Given the description of an element on the screen output the (x, y) to click on. 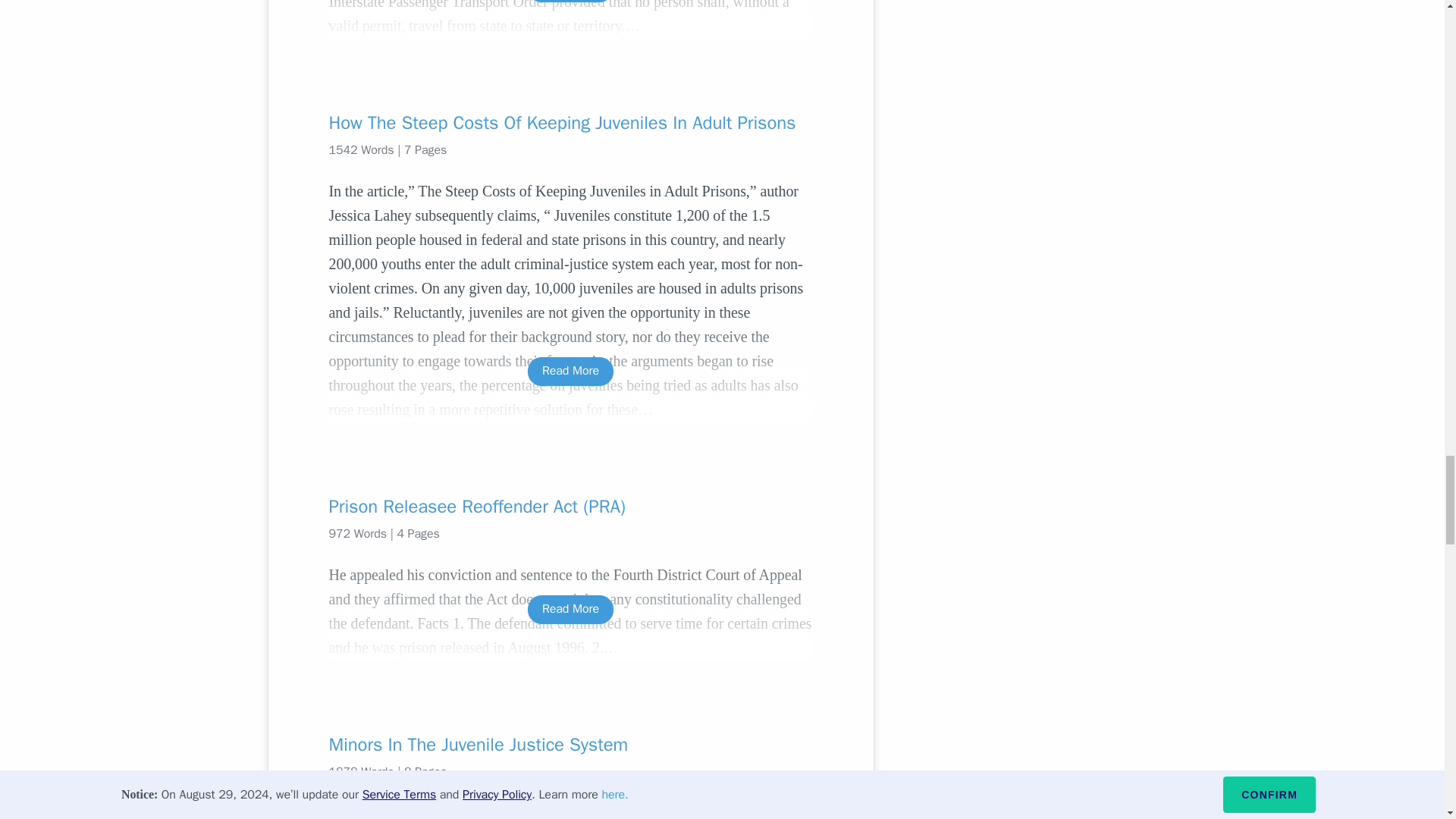
Minors In The Juvenile Justice System (570, 744)
Read More (569, 370)
How The Steep Costs Of Keeping Juveniles In Adult Prisons (570, 122)
Read More (569, 0)
Read More (569, 609)
